Given the description of an element on the screen output the (x, y) to click on. 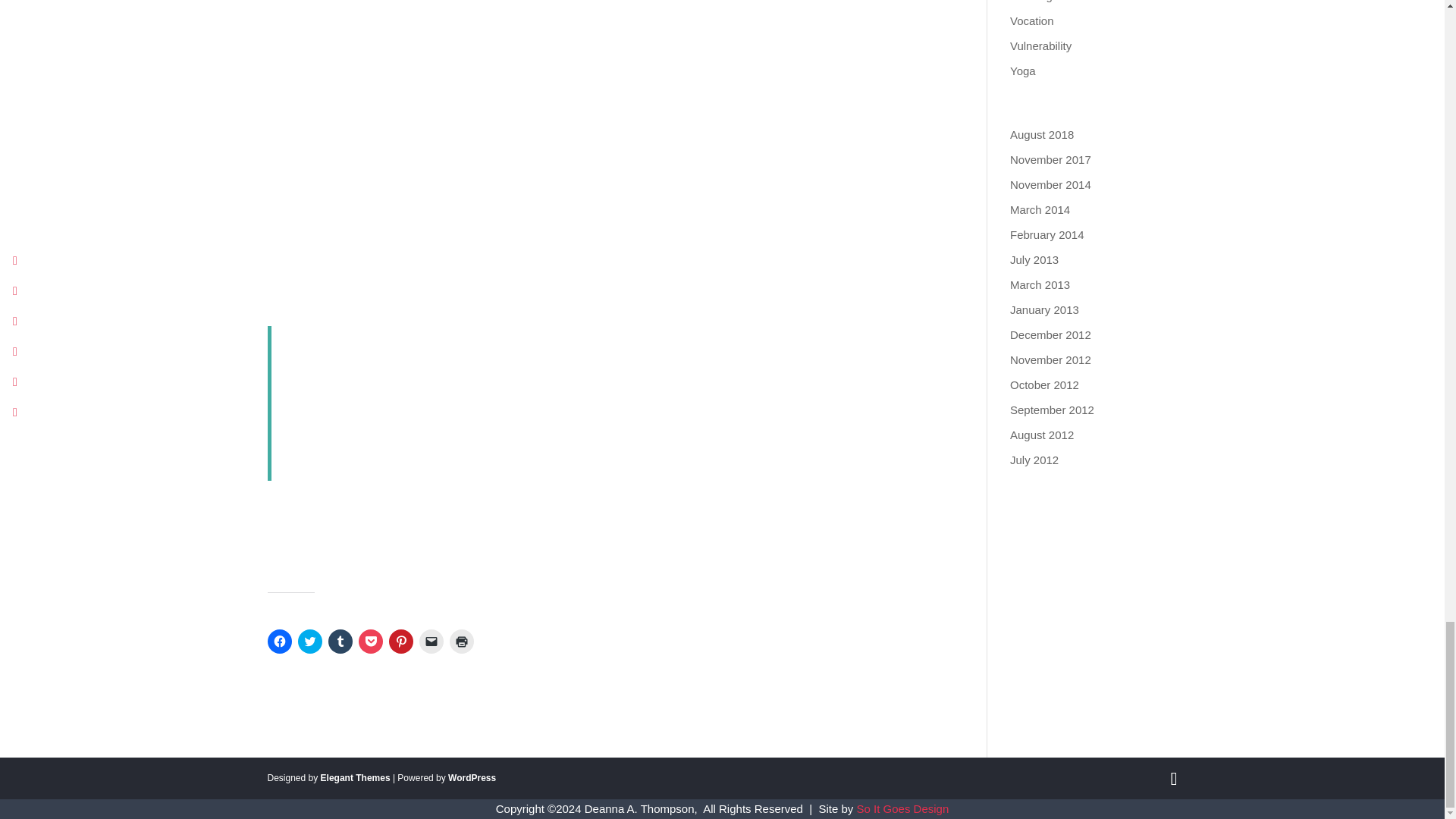
Click to email a link to a friend (430, 641)
Click to share on Twitter (309, 641)
Click to share on Tumblr (339, 641)
Click to share on Pocket (369, 641)
Click to share on Facebook (278, 641)
Click to print (460, 641)
Premium WordPress Themes (355, 777)
Click to share on Pinterest (400, 641)
